Given the description of an element on the screen output the (x, y) to click on. 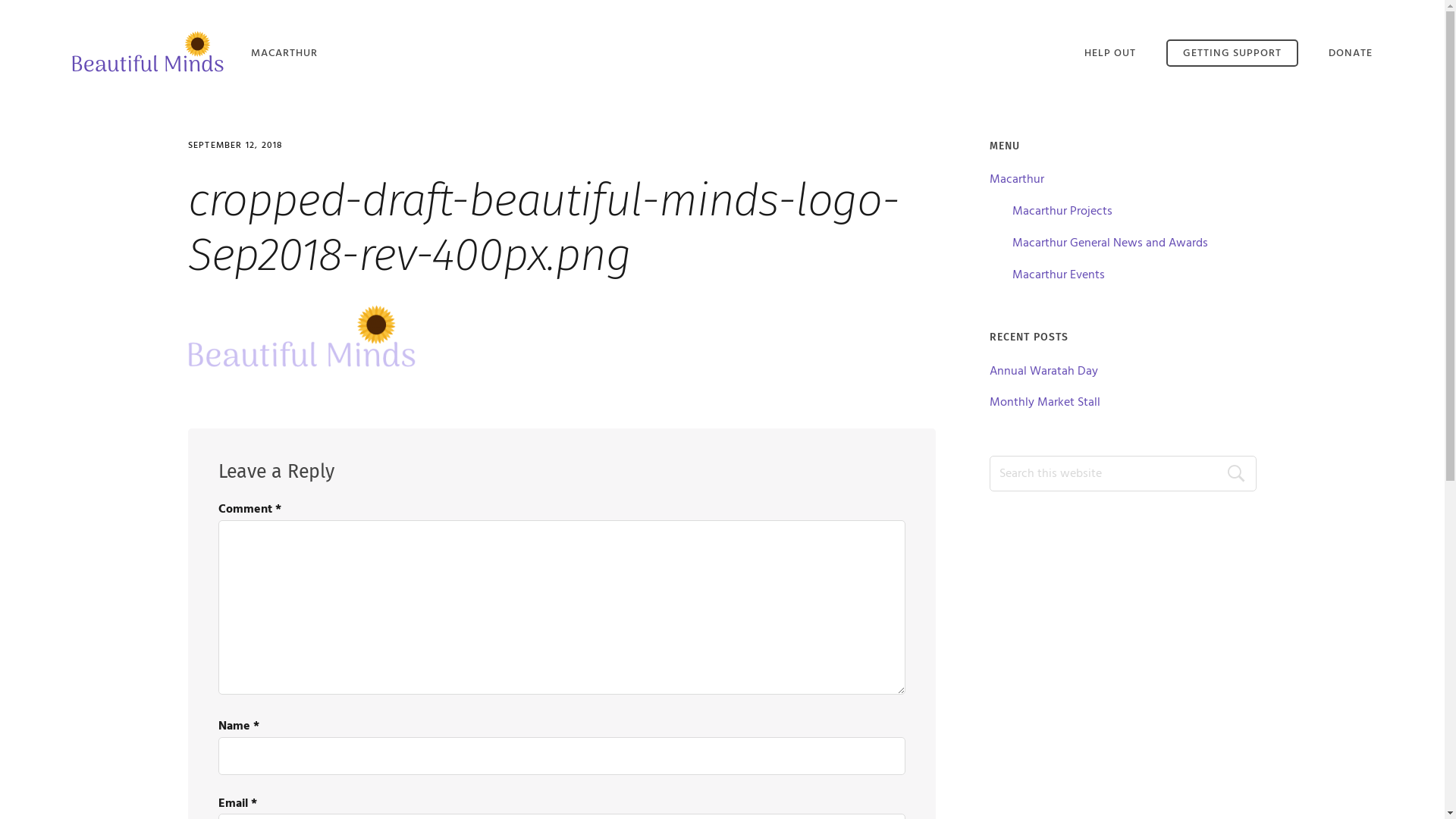
Monthly Market Stall Element type: text (1044, 402)
HELP OUT Element type: text (1109, 53)
MACARTHUR Element type: text (284, 53)
Skip to primary navigation Element type: text (0, 0)
Macarthur Projects Element type: text (1062, 211)
GETTING SUPPORT Element type: text (1232, 52)
Macarthur Element type: text (1016, 179)
Beautiful Minds Element type: text (147, 50)
Macarthur Events Element type: text (1058, 275)
Macarthur General News and Awards Element type: text (1110, 243)
Search Element type: text (1241, 473)
DONATE Element type: text (1350, 53)
Annual Waratah Day Element type: text (1043, 370)
